Given the description of an element on the screen output the (x, y) to click on. 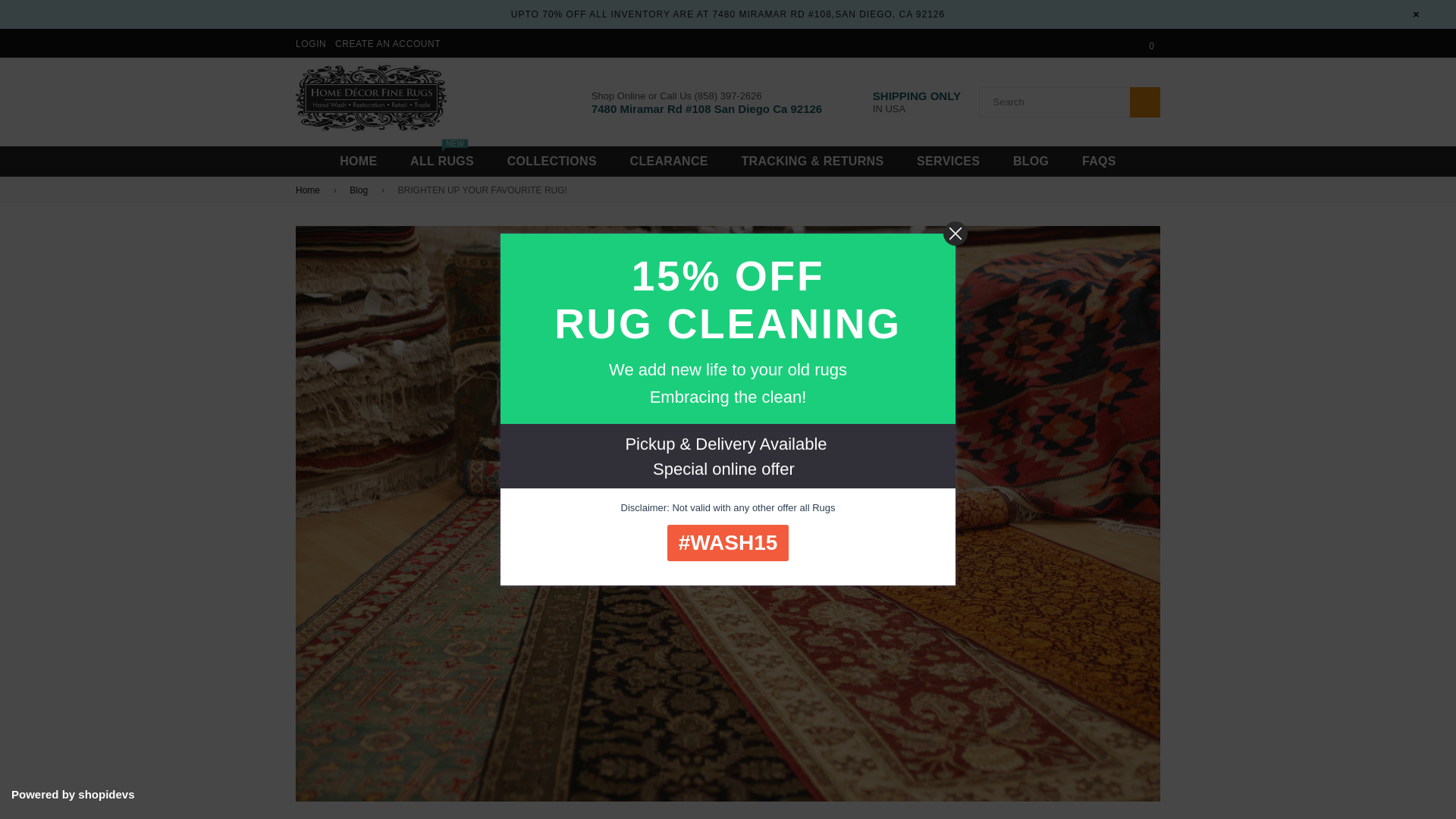
COLLECTIONS (551, 160)
CREATE AN ACCOUNT (387, 43)
SERVICES (947, 160)
BLOG (441, 160)
HOME (1030, 160)
SUBMIT (357, 160)
CLEARANCE (1144, 101)
Back to the home page (668, 160)
FAQS (309, 190)
LOGIN (1099, 160)
